Given the description of an element on the screen output the (x, y) to click on. 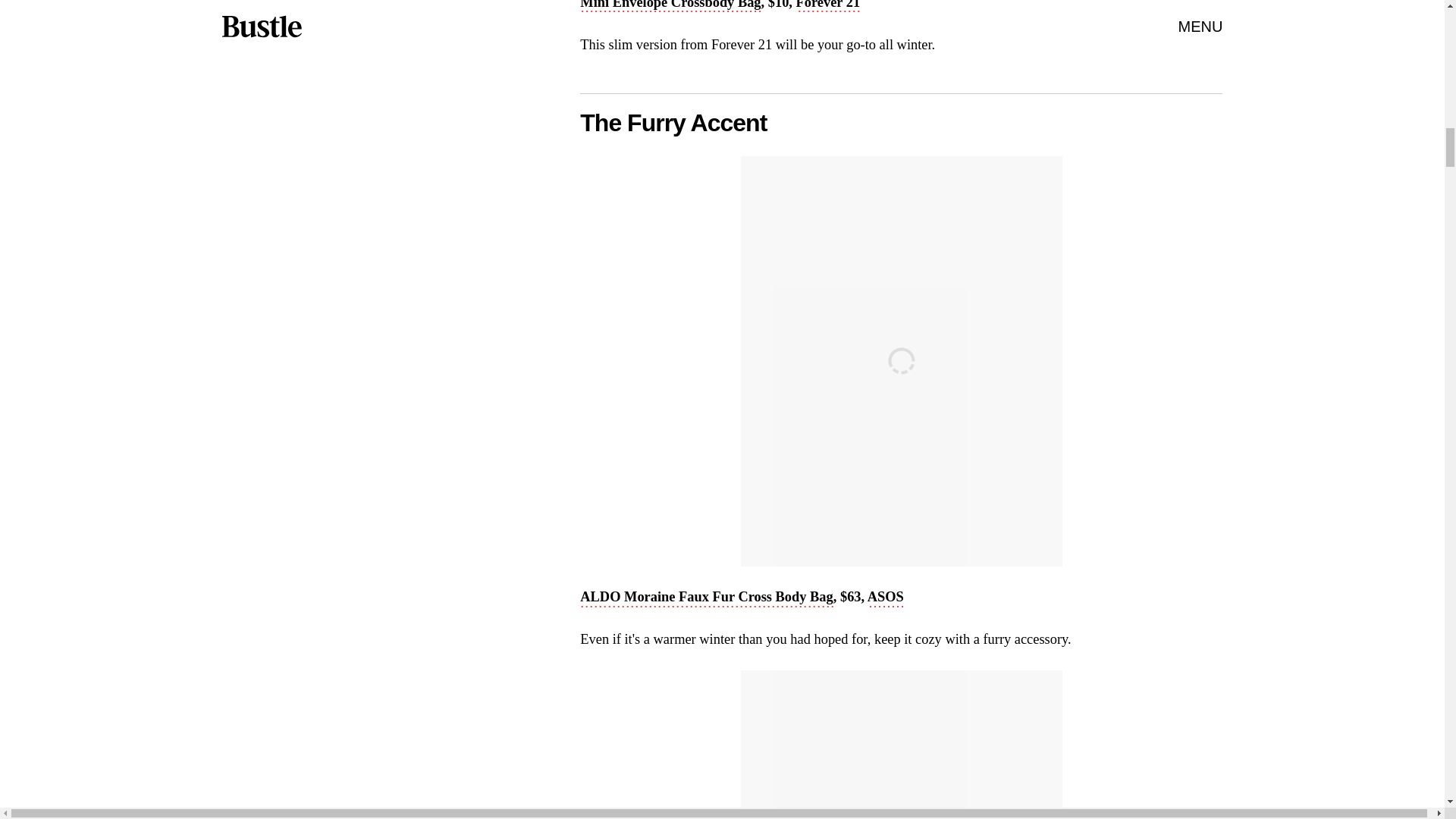
Forever 21 (828, 6)
Mini Envelope Crossbody Bag (669, 6)
ASOS (885, 597)
ALDO Moraine Faux Fur Cross Body Bag (705, 597)
